Given the description of an element on the screen output the (x, y) to click on. 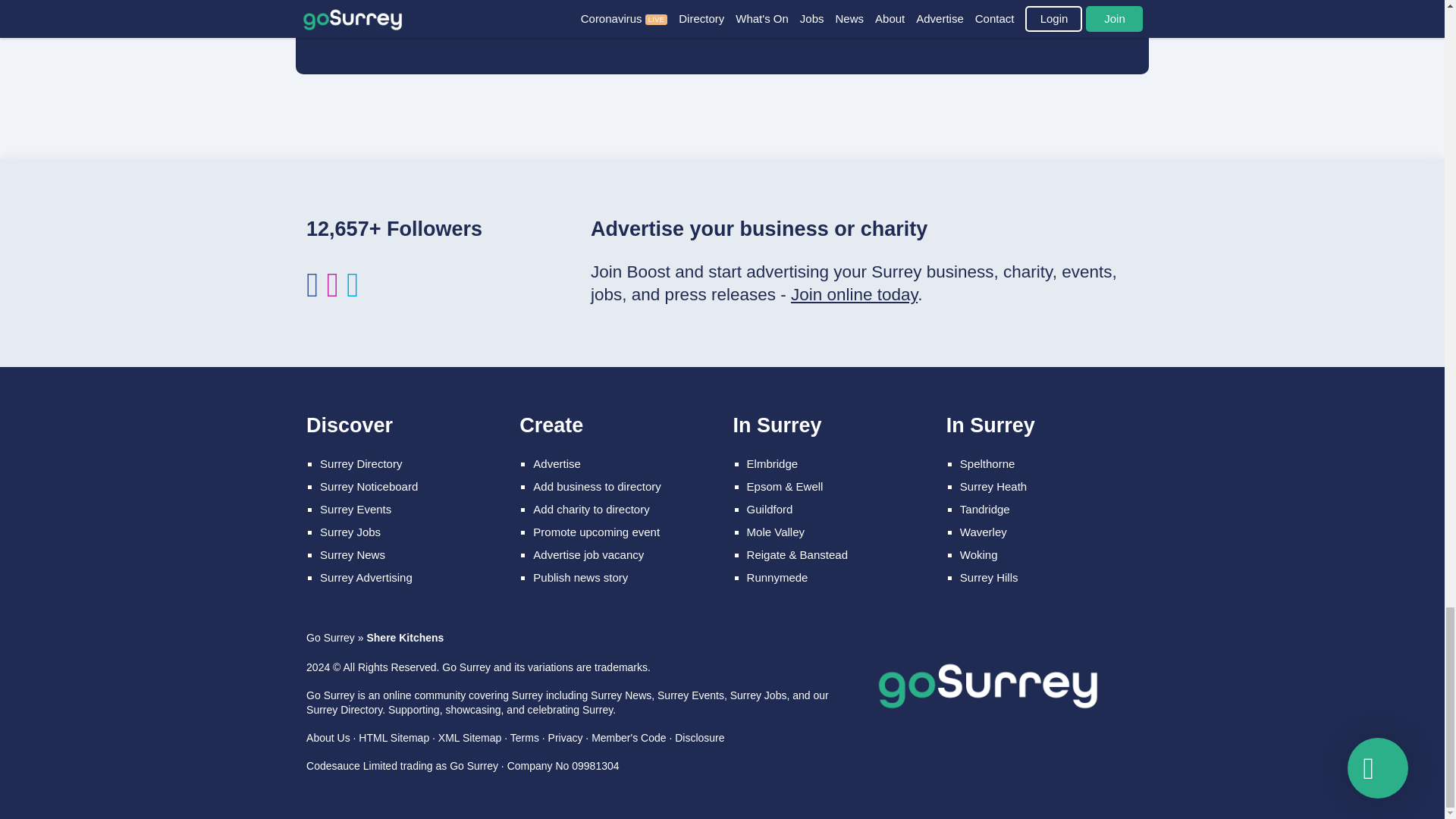
Surrey Events (355, 508)
Surrey Advertising (366, 576)
Surrey Directory (360, 463)
Join online today (853, 294)
Surrey Noticeboard (368, 486)
Surrey News (352, 554)
Advertise (556, 463)
Surrey Jobs (350, 531)
